Given the description of an element on the screen output the (x, y) to click on. 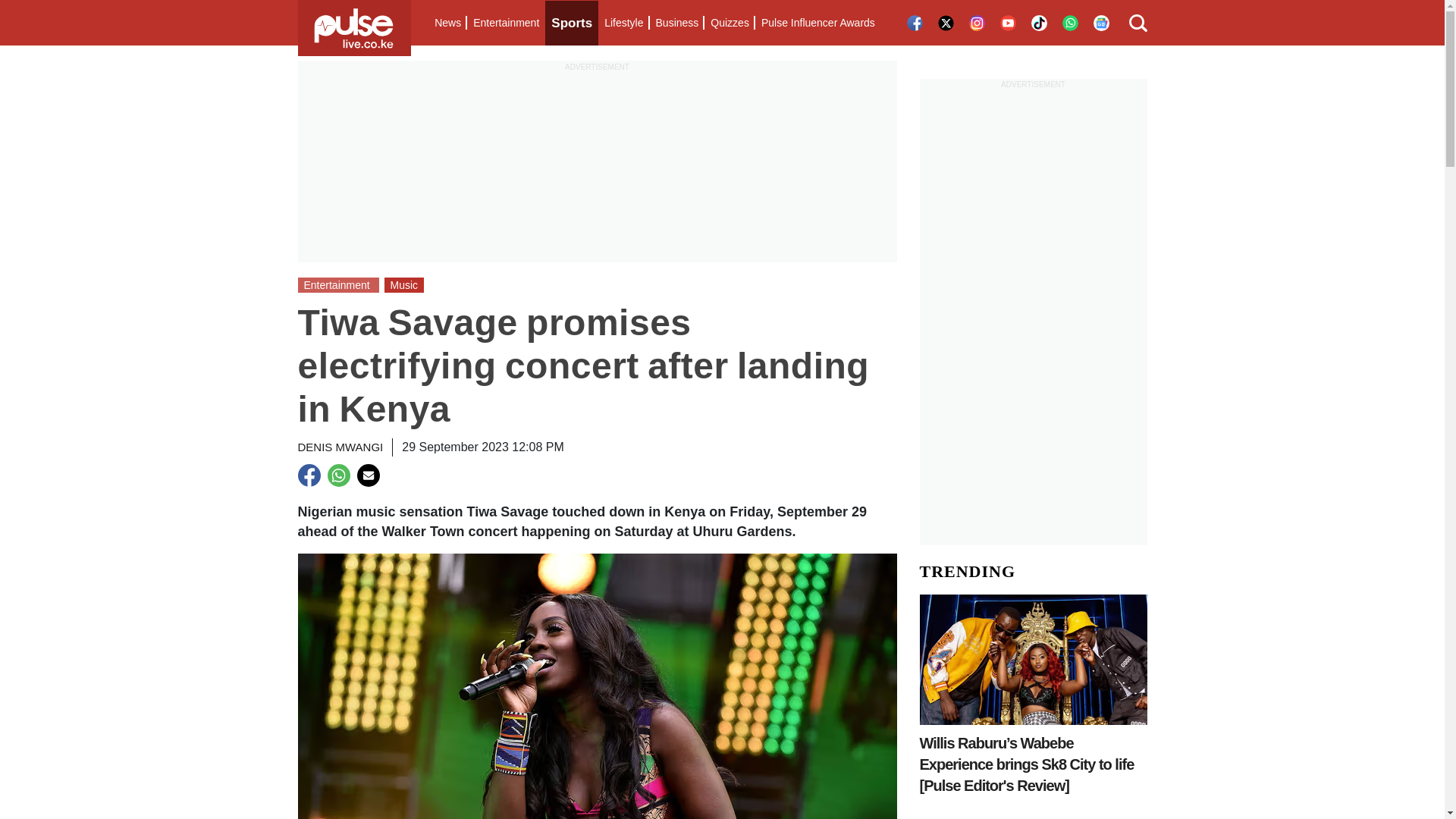
Pulse Influencer Awards (817, 22)
Entertainment (505, 22)
Business (676, 22)
Quizzes (729, 22)
Sports (571, 22)
Lifestyle (623, 22)
